Given the description of an element on the screen output the (x, y) to click on. 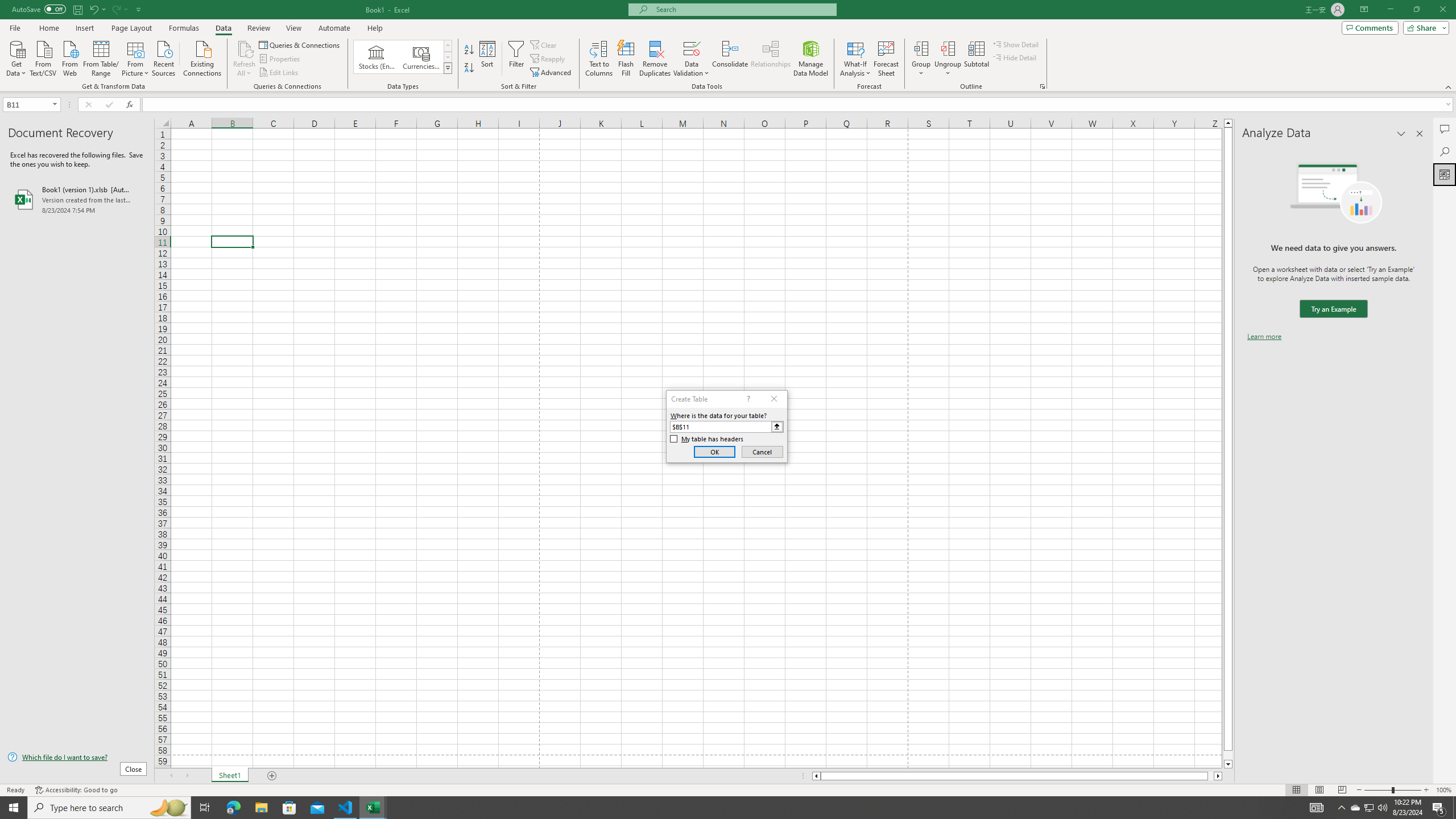
Ungroup... (947, 58)
Queries & Connections (300, 44)
Column left (815, 775)
Line down (1228, 764)
Get Data (16, 57)
Column right (1218, 775)
Sort Z to A (469, 67)
Hide Detail (1014, 56)
Filter (515, 58)
Page right (1211, 775)
Edit Links (279, 72)
